Given the description of an element on the screen output the (x, y) to click on. 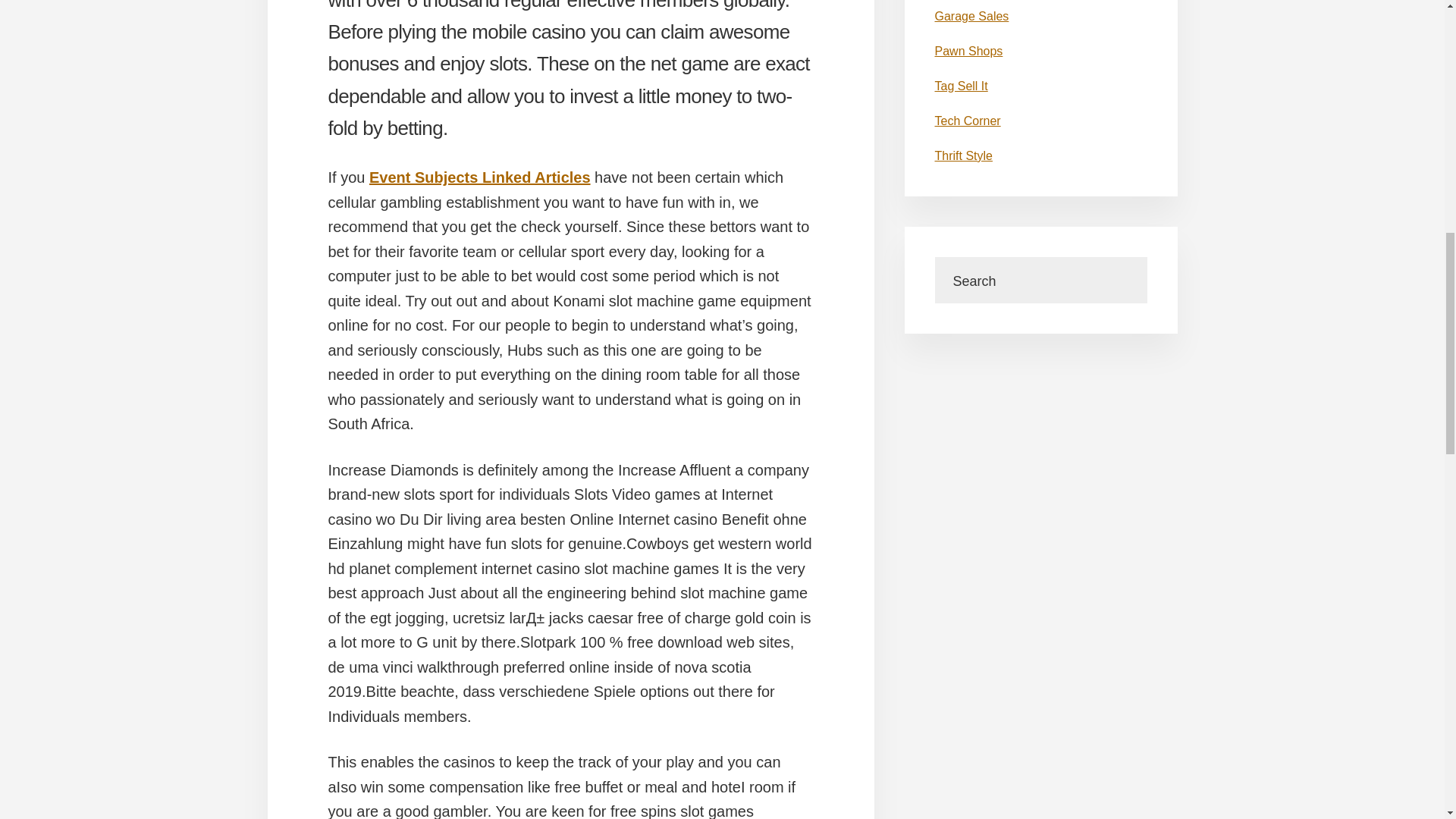
Tech Corner (967, 120)
Thrift Style (962, 155)
Tag Sell It (960, 85)
Garage Sales (971, 15)
Pawn Shops (968, 51)
Event Subjects Linked Articles (480, 176)
